Given the description of an element on the screen output the (x, y) to click on. 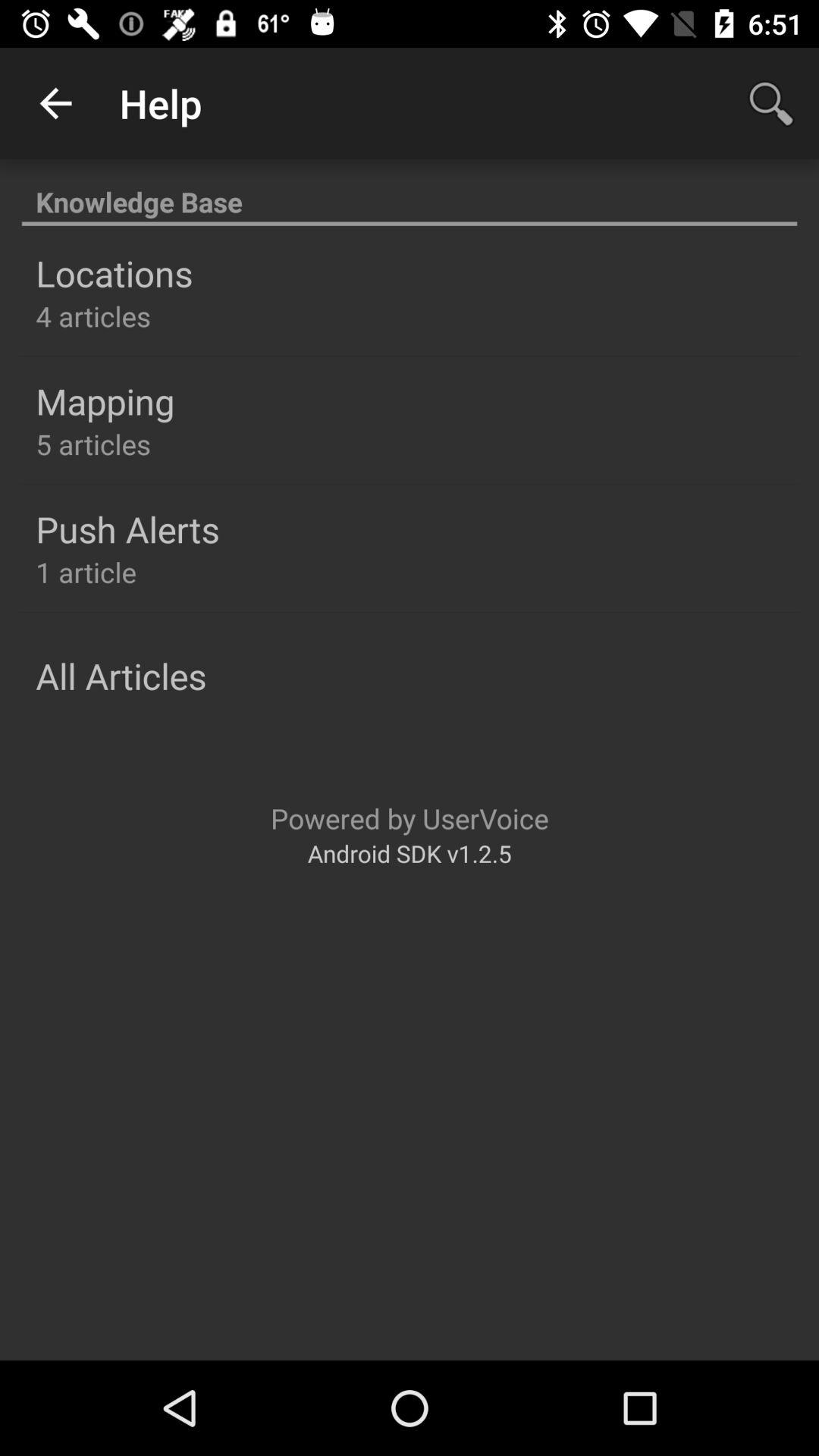
choose the icon below the knowledge base item (113, 273)
